Given the description of an element on the screen output the (x, y) to click on. 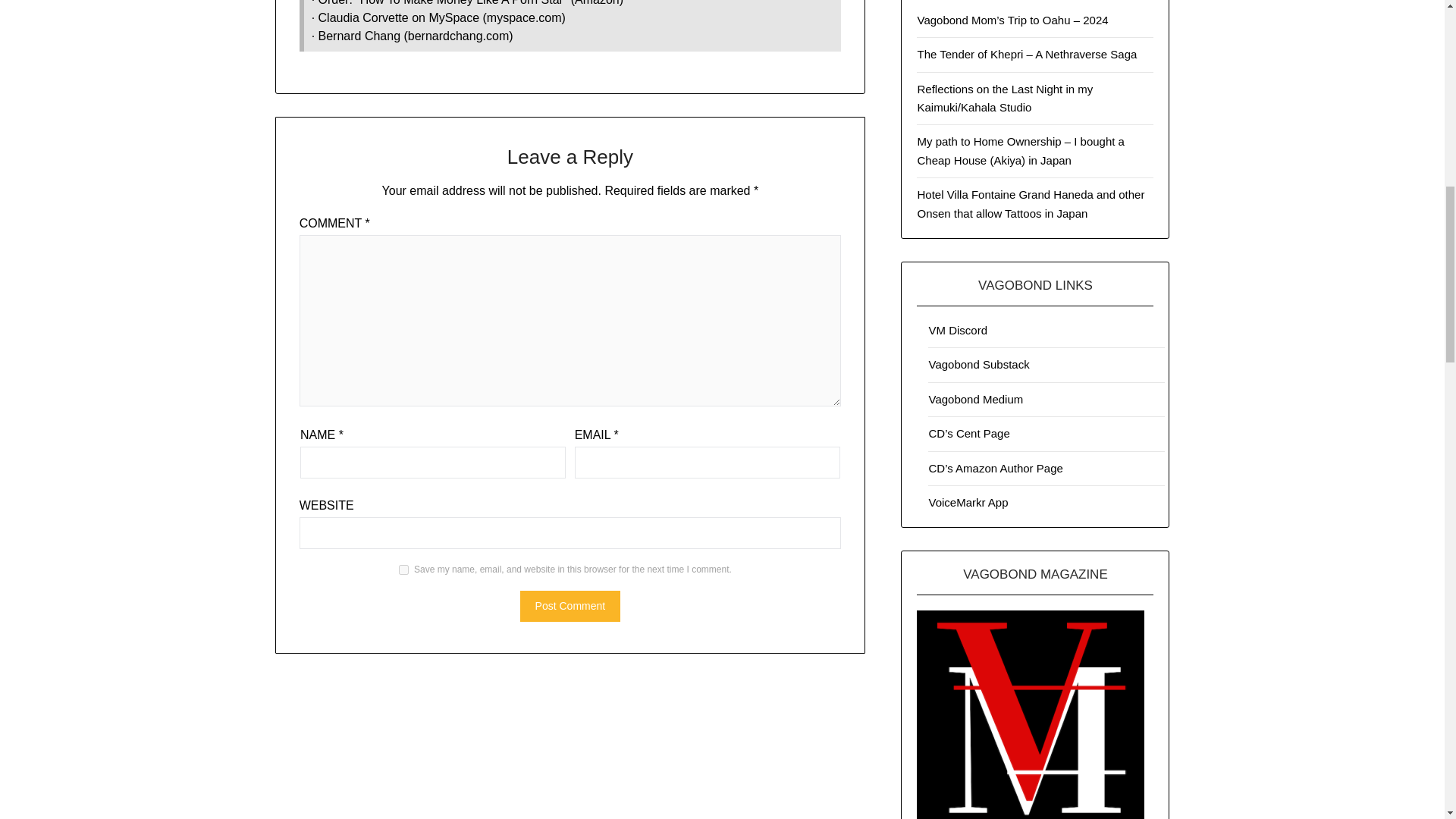
VoiceMarkr App (967, 502)
Vagobond Substack (978, 364)
yes (403, 569)
VM Discord (957, 329)
Post Comment (570, 605)
Vagobond Medium (975, 399)
Post Comment (570, 605)
